Given the description of an element on the screen output the (x, y) to click on. 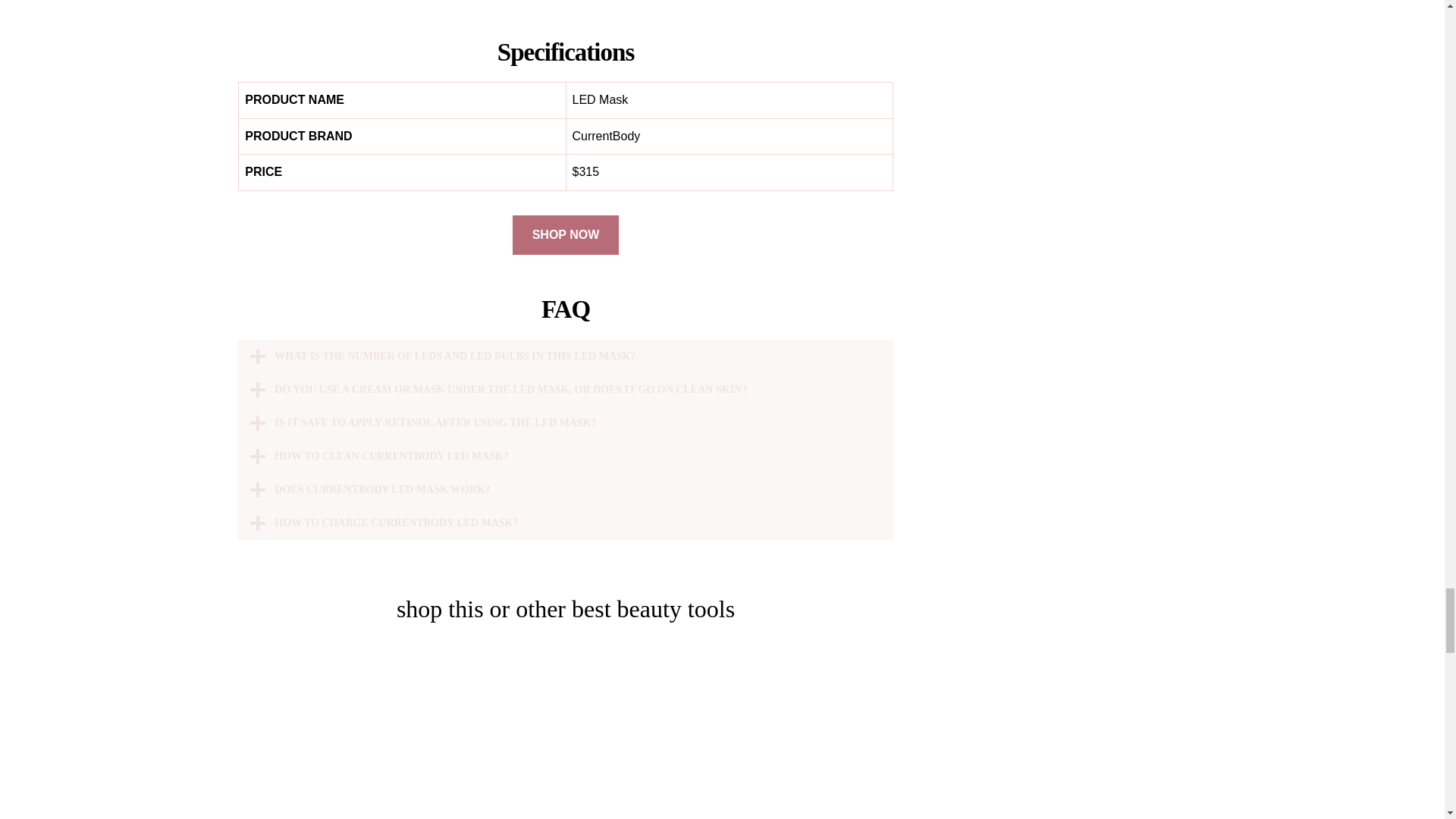
Best Beauty Tools (565, 731)
